Given the description of an element on the screen output the (x, y) to click on. 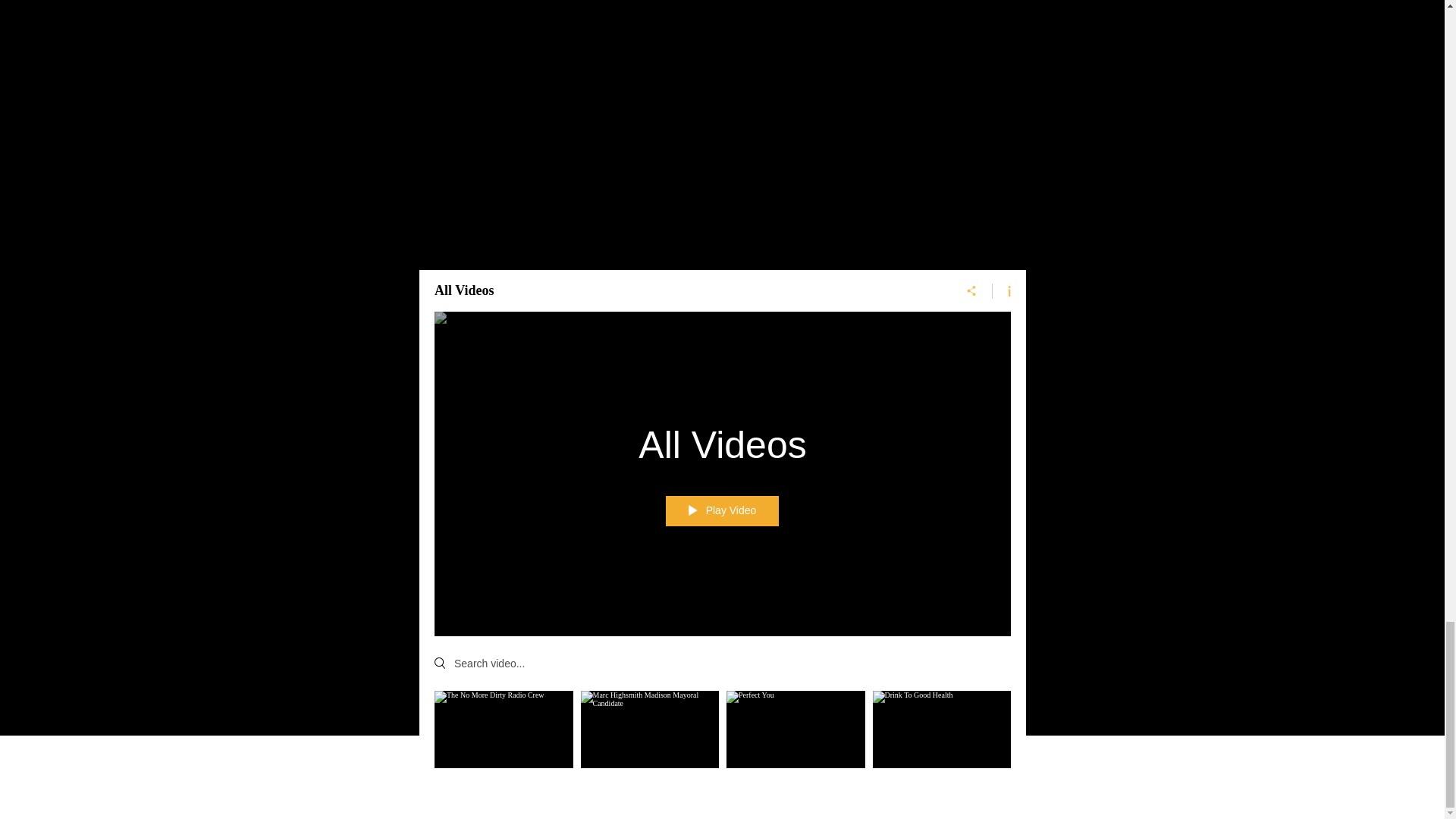
All Videos (722, 444)
All Videos (683, 291)
Play Video (721, 511)
